Given the description of an element on the screen output the (x, y) to click on. 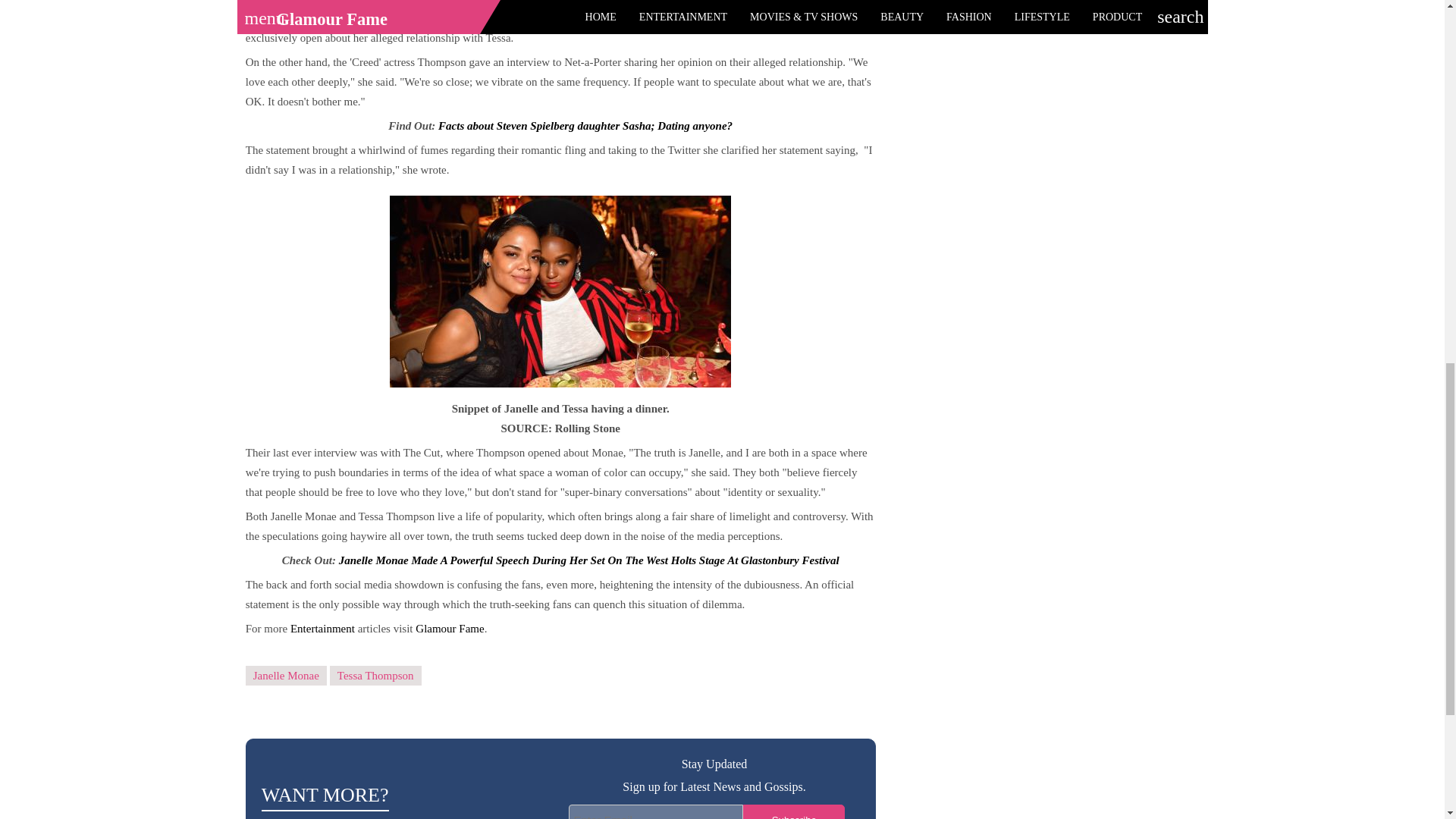
Janelle Monae (286, 675)
Glamour Fame (448, 628)
Facts about Steven Spielberg daughter Sasha; Dating anyone? (585, 125)
Entertainment (322, 628)
Tessa Thompson (376, 675)
Subscribe (793, 811)
